Given the description of an element on the screen output the (x, y) to click on. 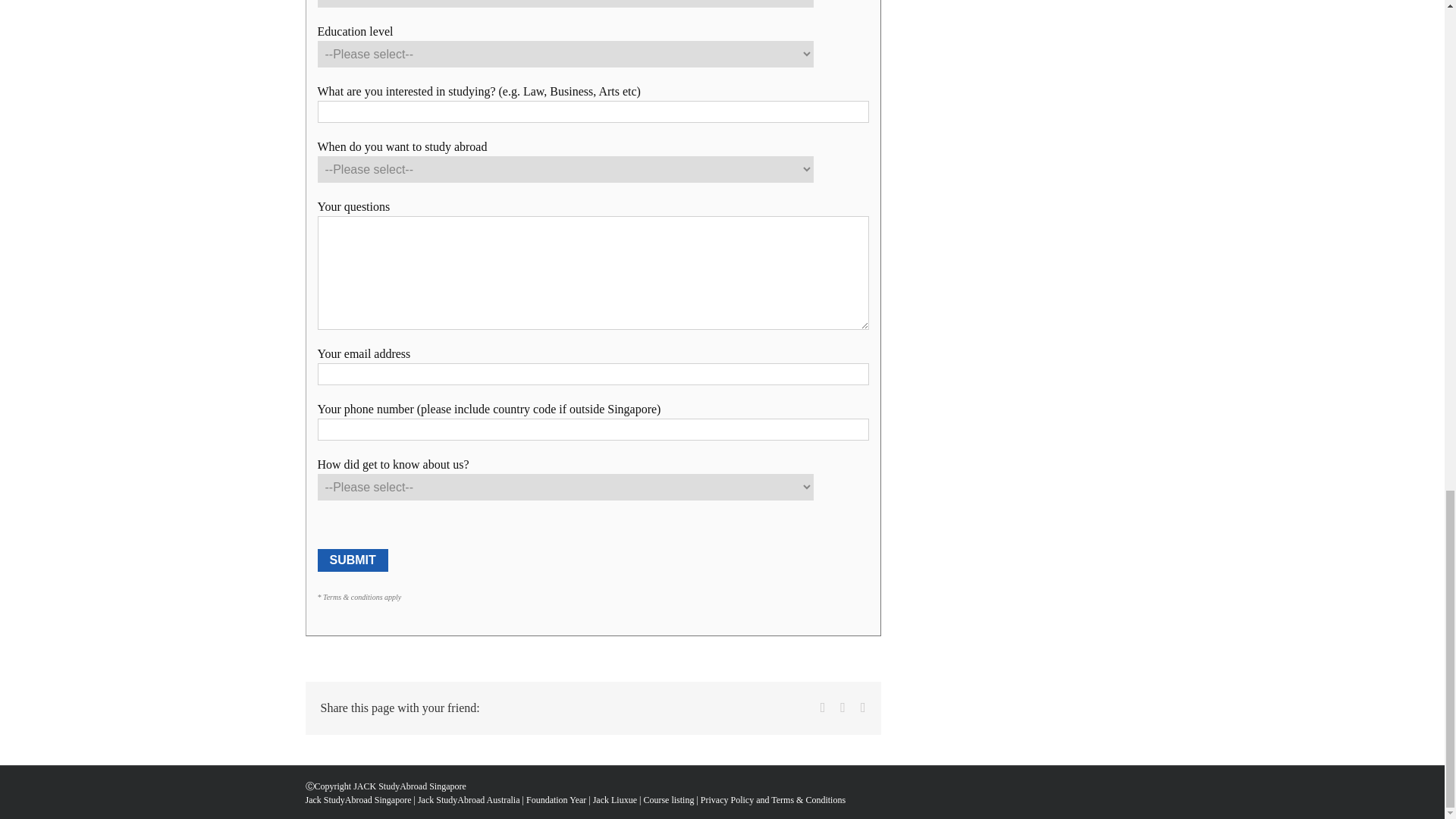
What are You Interested in Studying? (592, 111)
Your Email Address (592, 373)
Submit (352, 559)
Your Phone Number (592, 429)
